Given the description of an element on the screen output the (x, y) to click on. 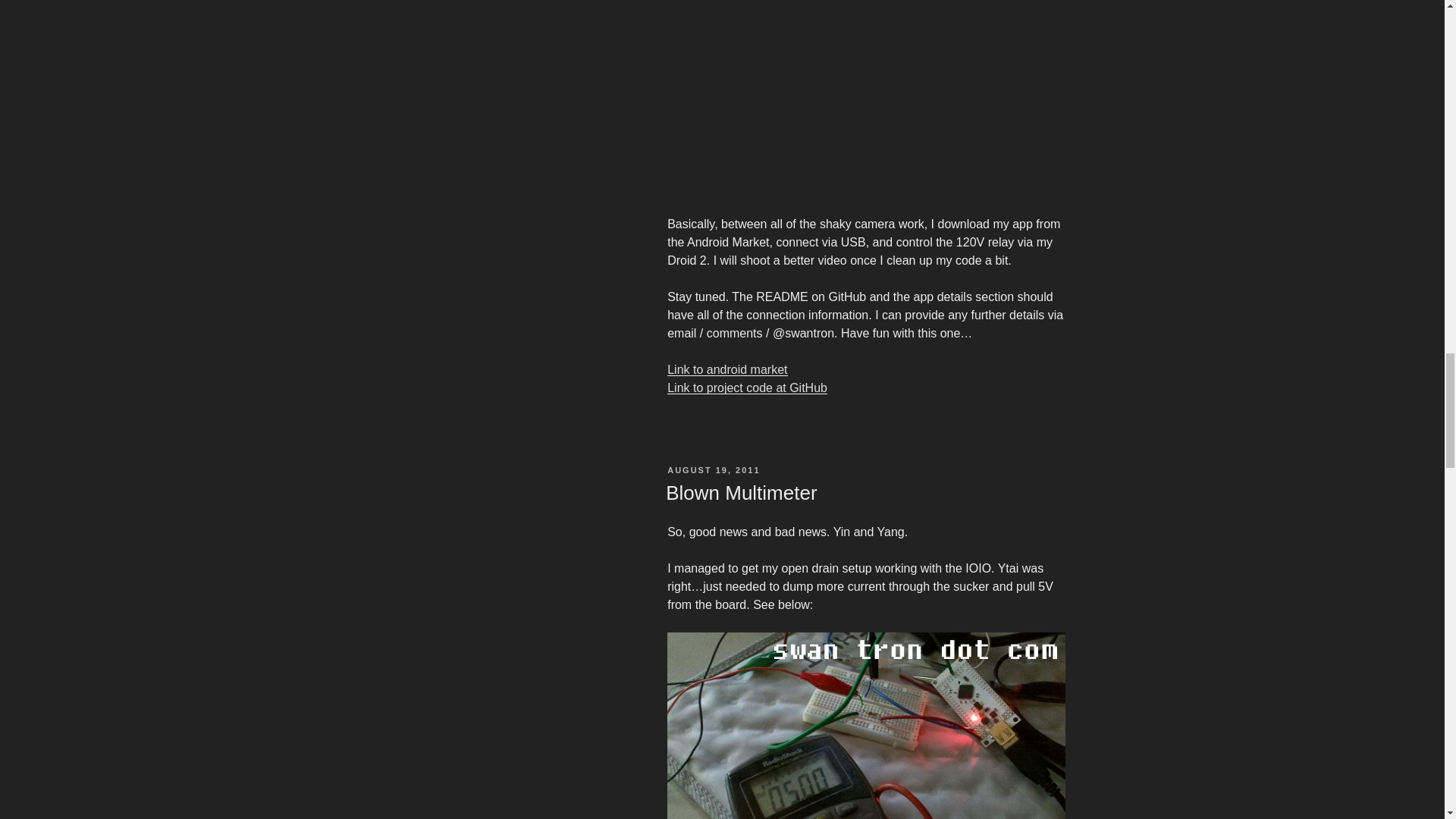
Link to project code at GitHub (746, 387)
AUGUST 19, 2011 (713, 470)
Blown Multimeter (740, 492)
Link to android market (726, 369)
Pull-up-resistor (865, 725)
